Given the description of an element on the screen output the (x, y) to click on. 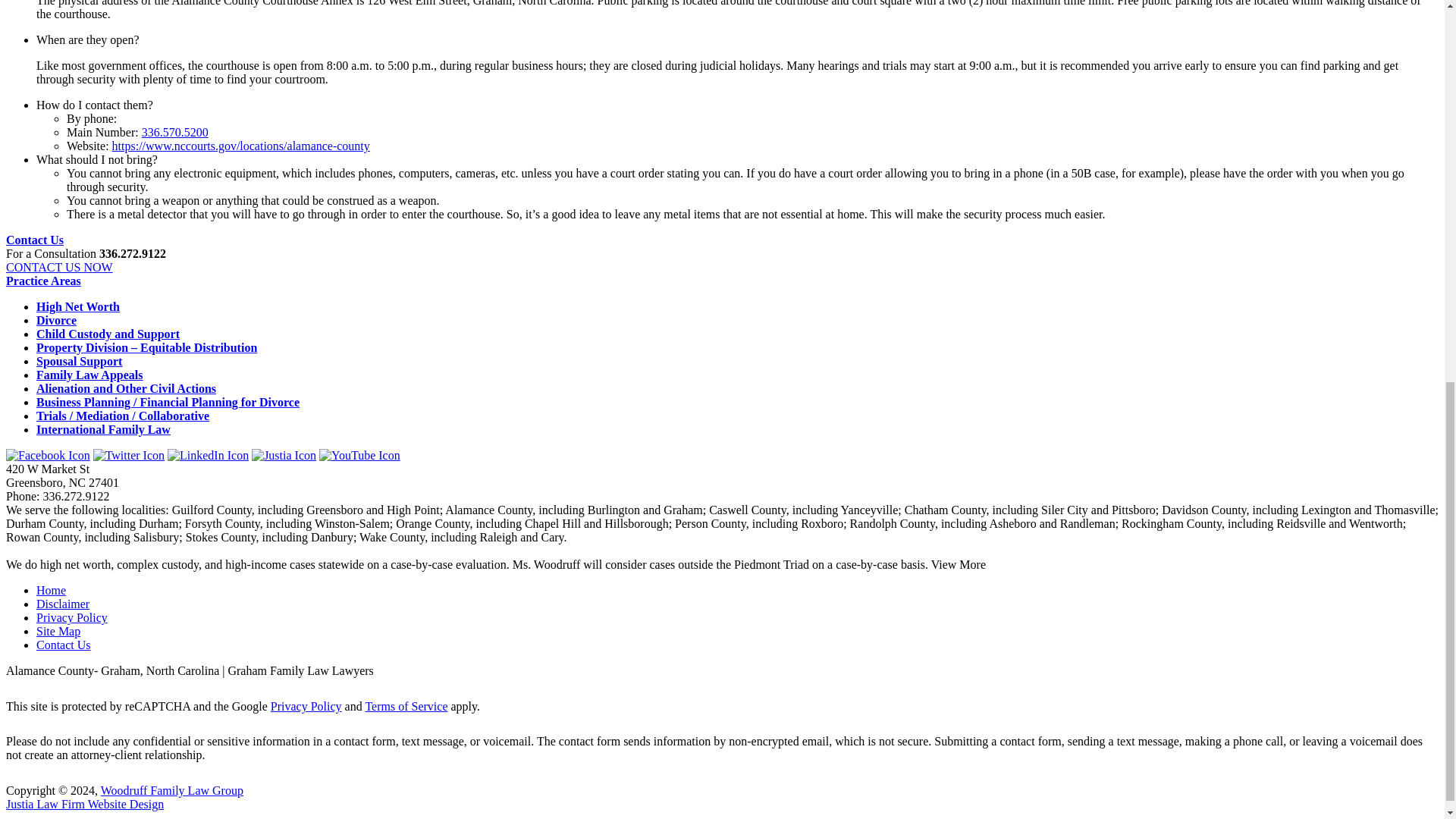
Contact Us (34, 239)
Twitter (128, 454)
Spousal Support (79, 360)
Facebook (47, 454)
Practice Areas (43, 280)
LinkedIn (207, 454)
Justia (283, 454)
336.570.5200 (174, 132)
CONTACT US NOW (59, 267)
Divorce (56, 319)
Child Custody and Support (107, 333)
High Net Worth (77, 306)
YouTube (359, 454)
